Given the description of an element on the screen output the (x, y) to click on. 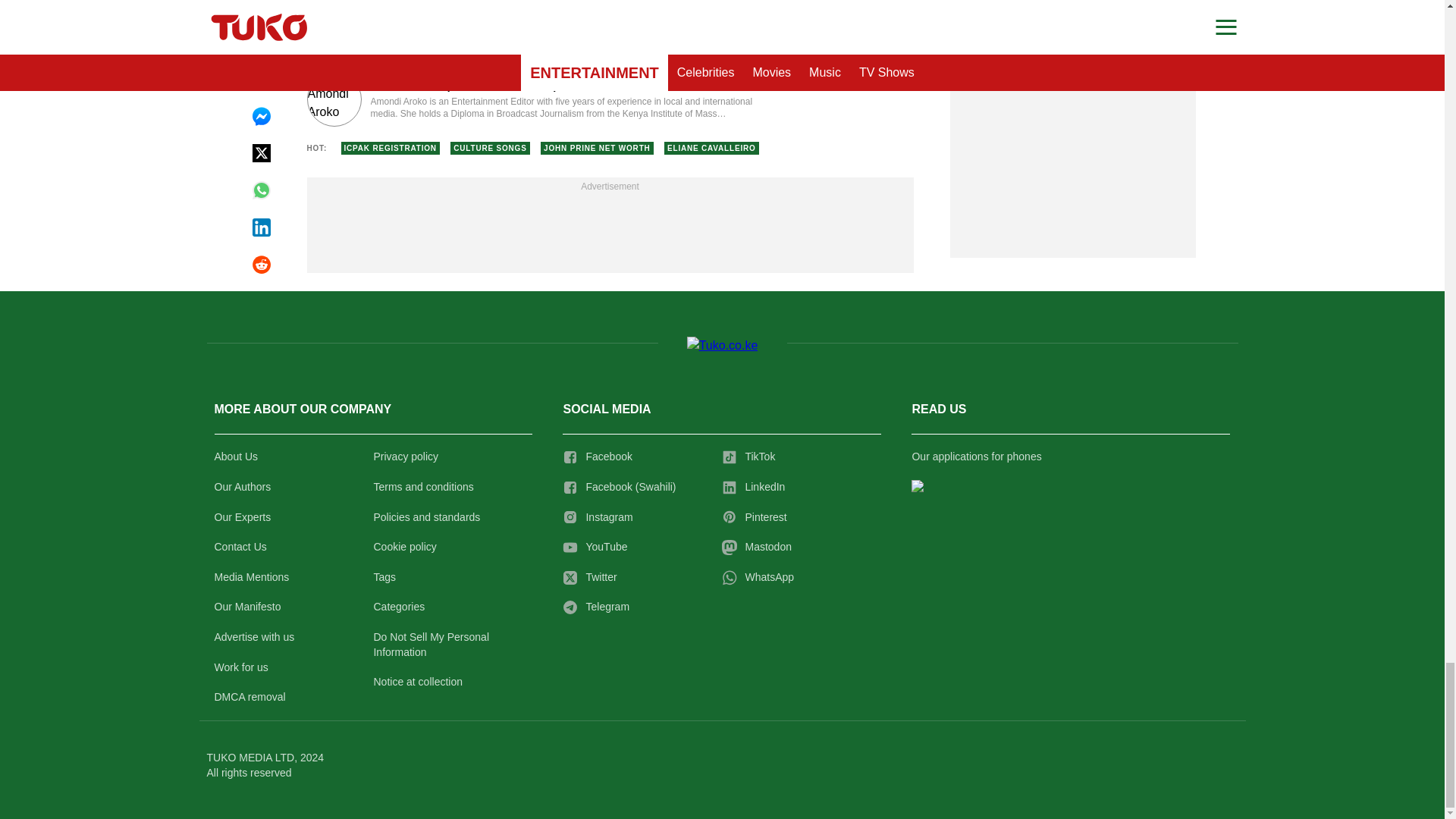
Author page (533, 99)
